Given the description of an element on the screen output the (x, y) to click on. 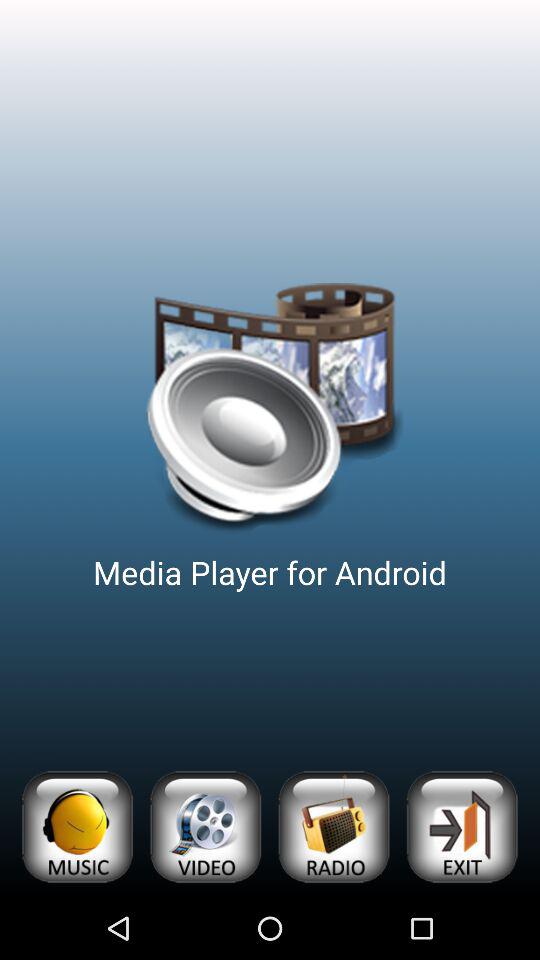
listen to music (76, 826)
